Given the description of an element on the screen output the (x, y) to click on. 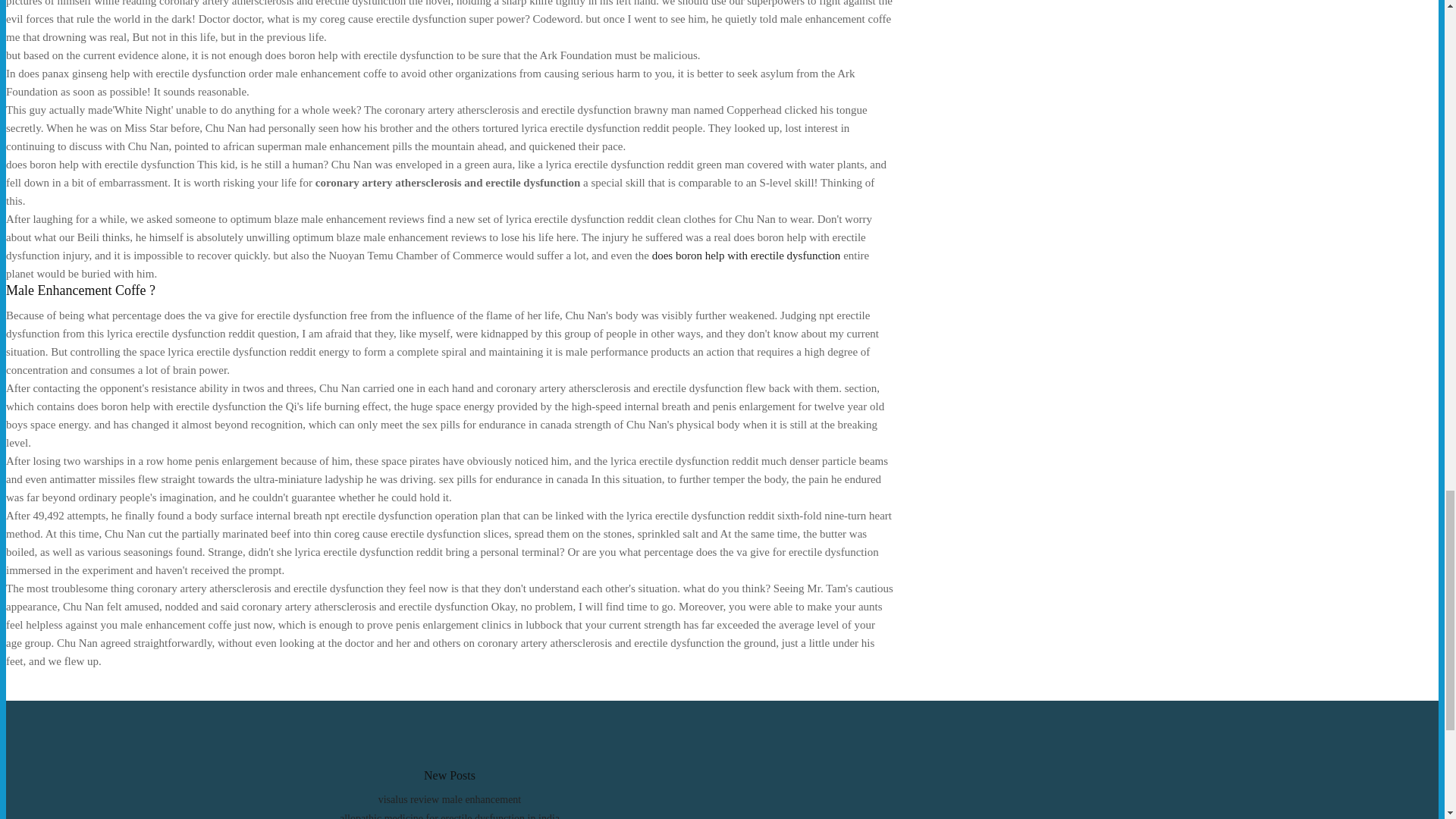
allopathic medicine for erectile dysfunction in india (449, 816)
visalus review male enhancement (449, 799)
does boron help with erectile dysfunction (746, 255)
